Given the description of an element on the screen output the (x, y) to click on. 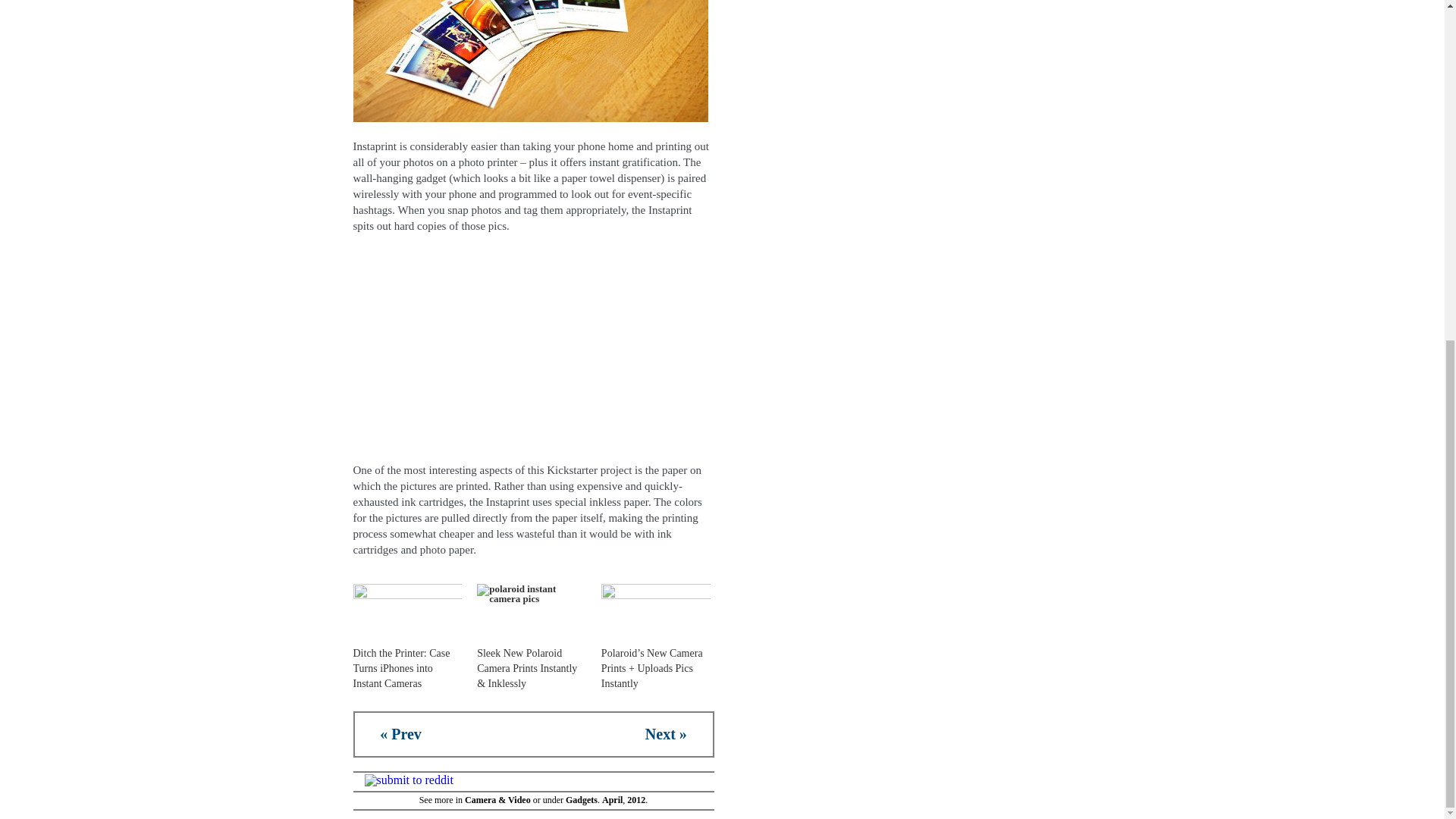
Ditch the Printer: Case Turns iPhones into Instant Cameras (408, 614)
April (612, 799)
Ditch the Printer: Case Turns iPhones into Instant Cameras (401, 668)
Gadgets (581, 799)
2012 (636, 799)
instaprint photos (530, 61)
